Given the description of an element on the screen output the (x, y) to click on. 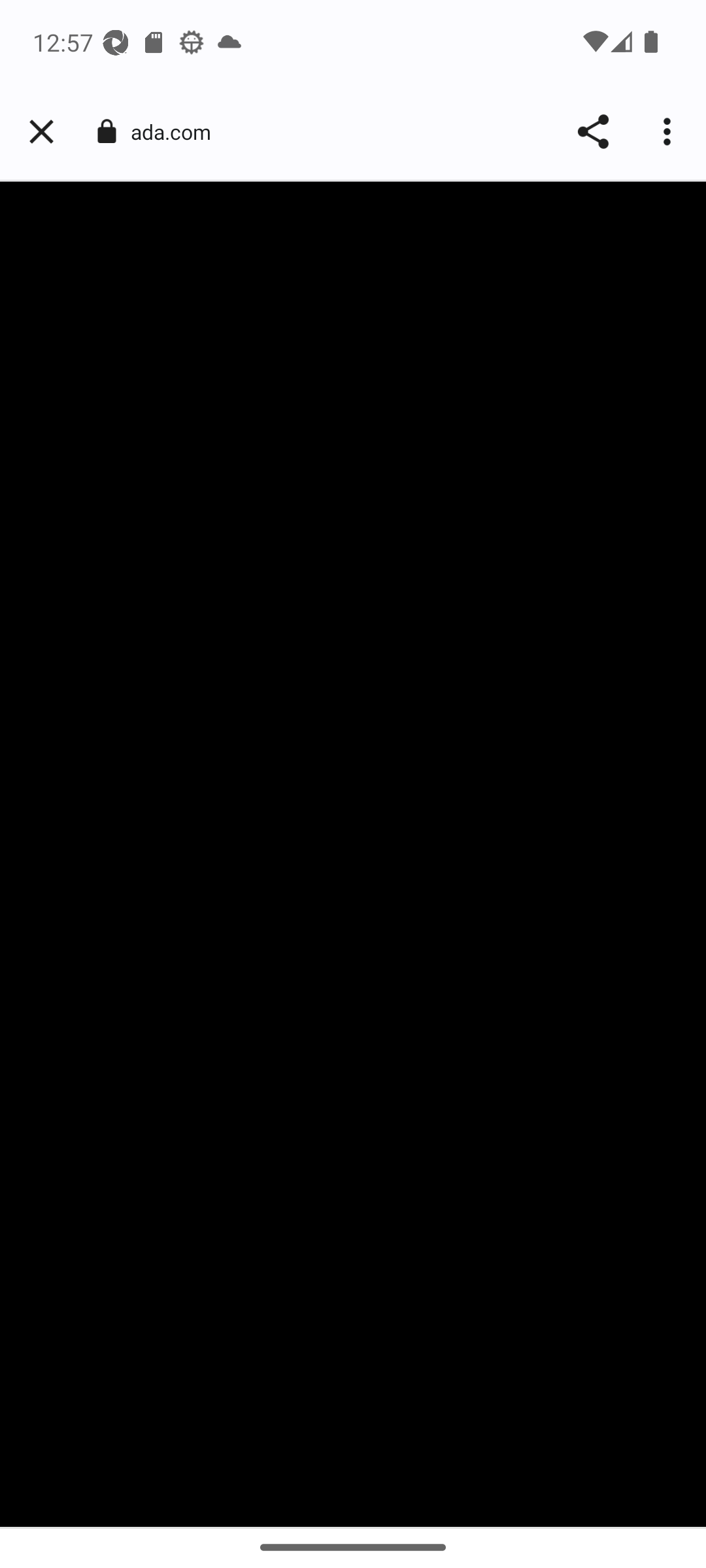
Close tab (41, 131)
Share (592, 131)
More options (669, 131)
Connection is secure (106, 131)
ada.com (177, 131)
